Given the description of an element on the screen output the (x, y) to click on. 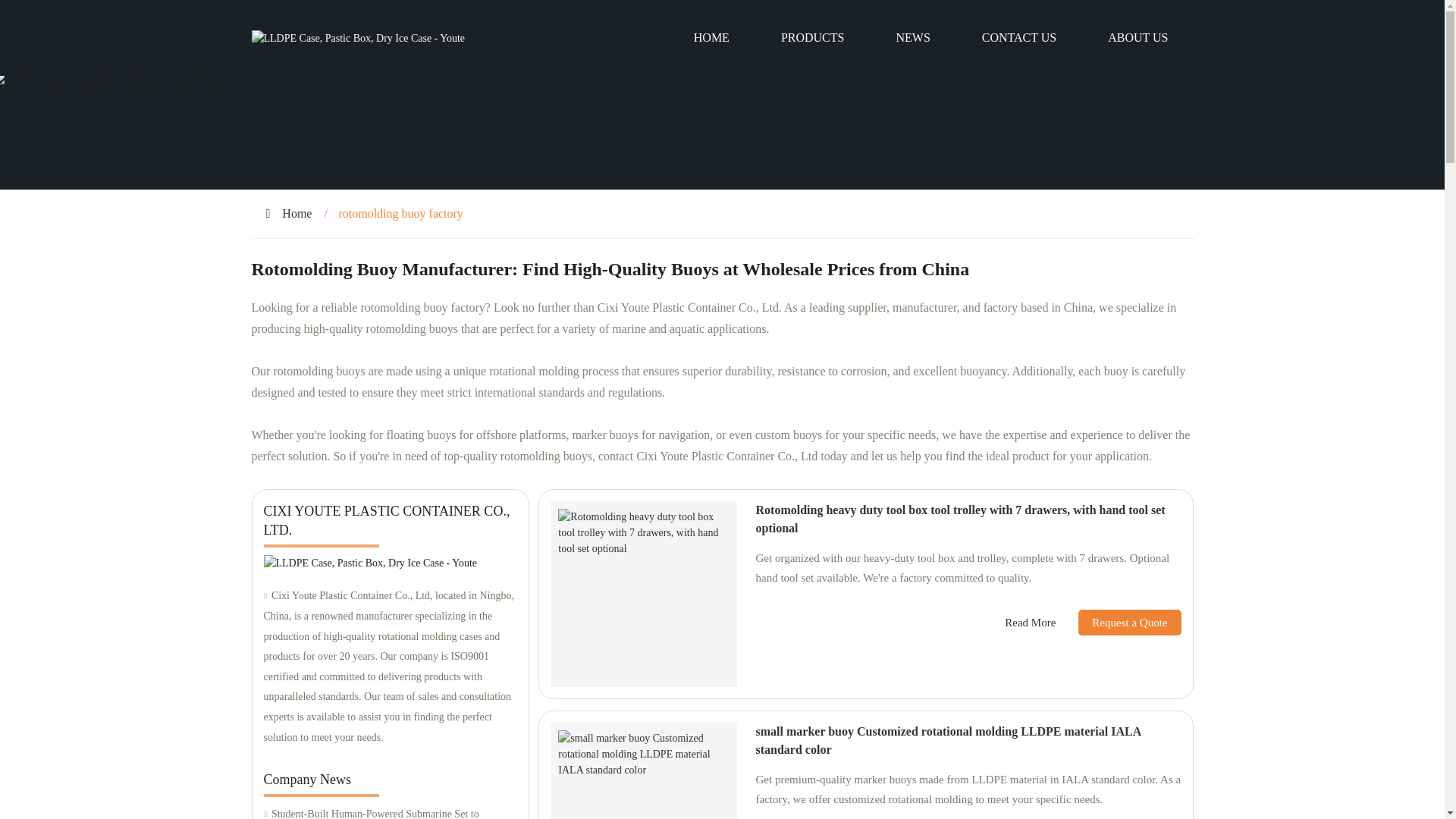
Request a Quote (1117, 622)
CONTACT US (1018, 38)
PRODUCTS (812, 38)
Home (296, 213)
Read More (1029, 622)
